Given the description of an element on the screen output the (x, y) to click on. 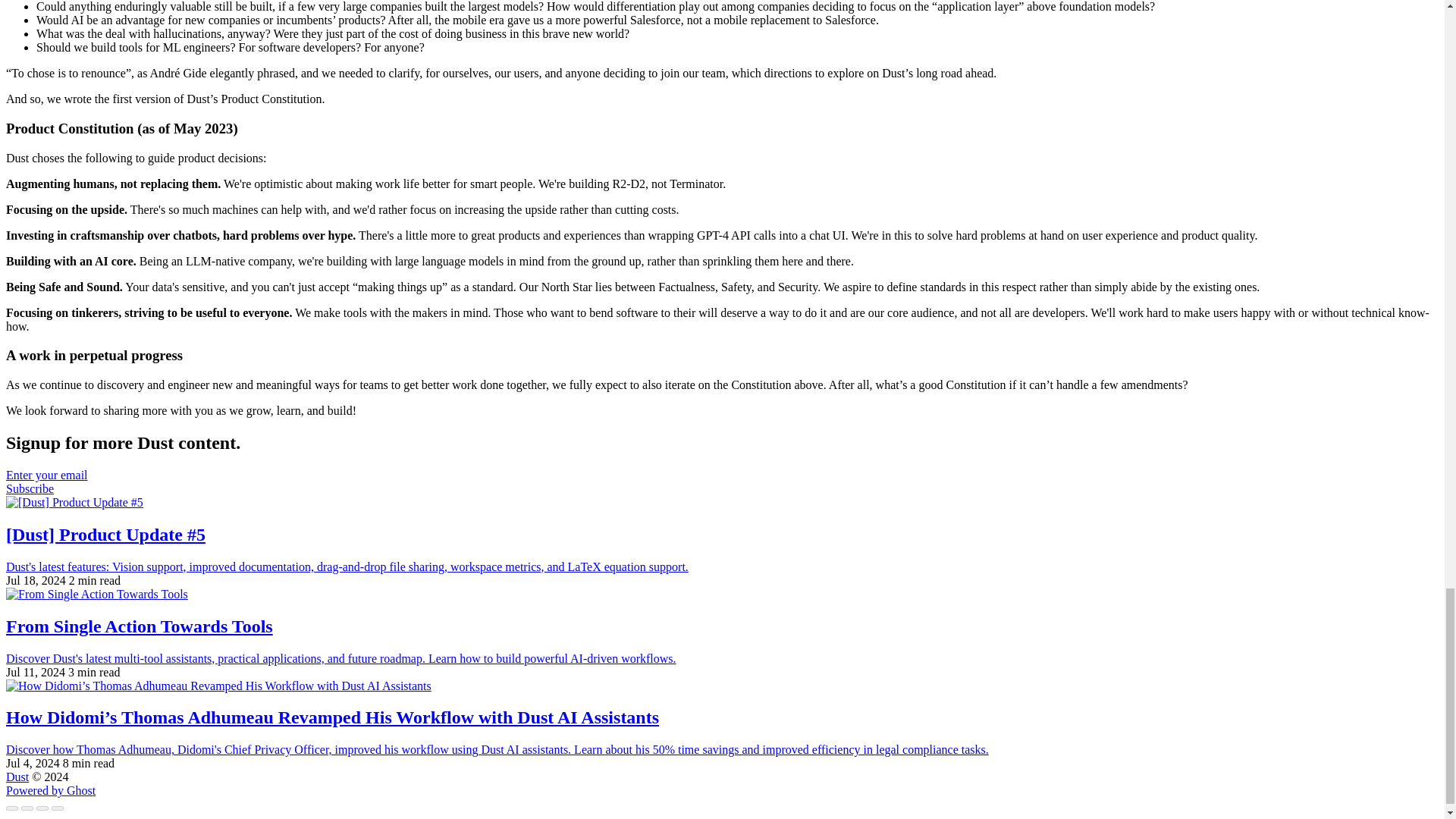
Powered by Ghost (50, 789)
Share (27, 807)
Toggle fullscreen (42, 807)
Dust (17, 776)
